Given the description of an element on the screen output the (x, y) to click on. 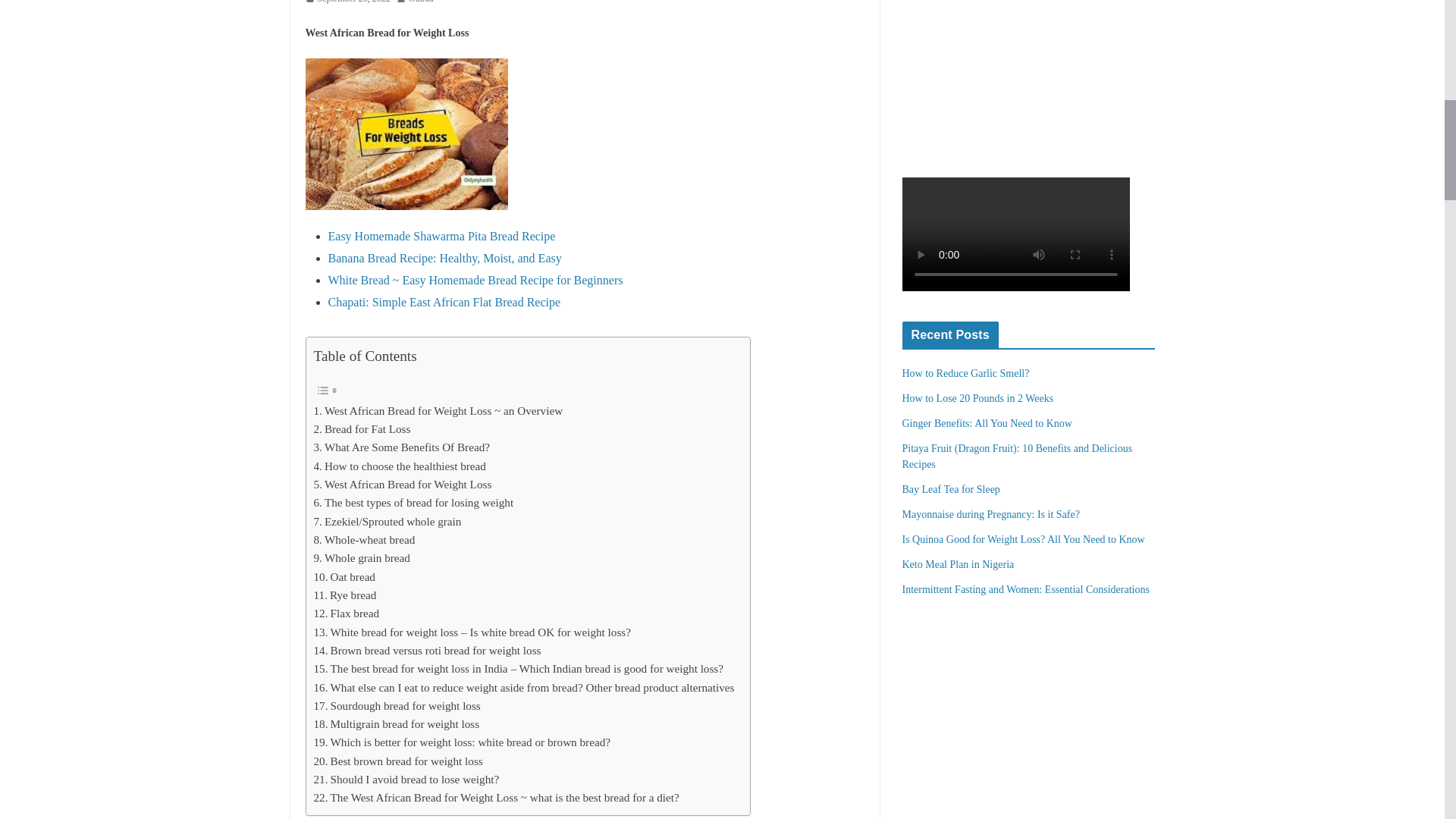
What Are Some Benefits Of Bread? (401, 447)
How to choose the healthiest bread (400, 466)
Best brown bread for weight loss (398, 761)
Whole grain bread (362, 557)
Multigrain bread for weight loss (397, 723)
Odiraa (421, 3)
What Are Some Benefits Of Bread? (401, 447)
West African Bread for Weight Loss (403, 484)
Whole grain bread (362, 557)
Bread for Fat Loss (362, 429)
